Given the description of an element on the screen output the (x, y) to click on. 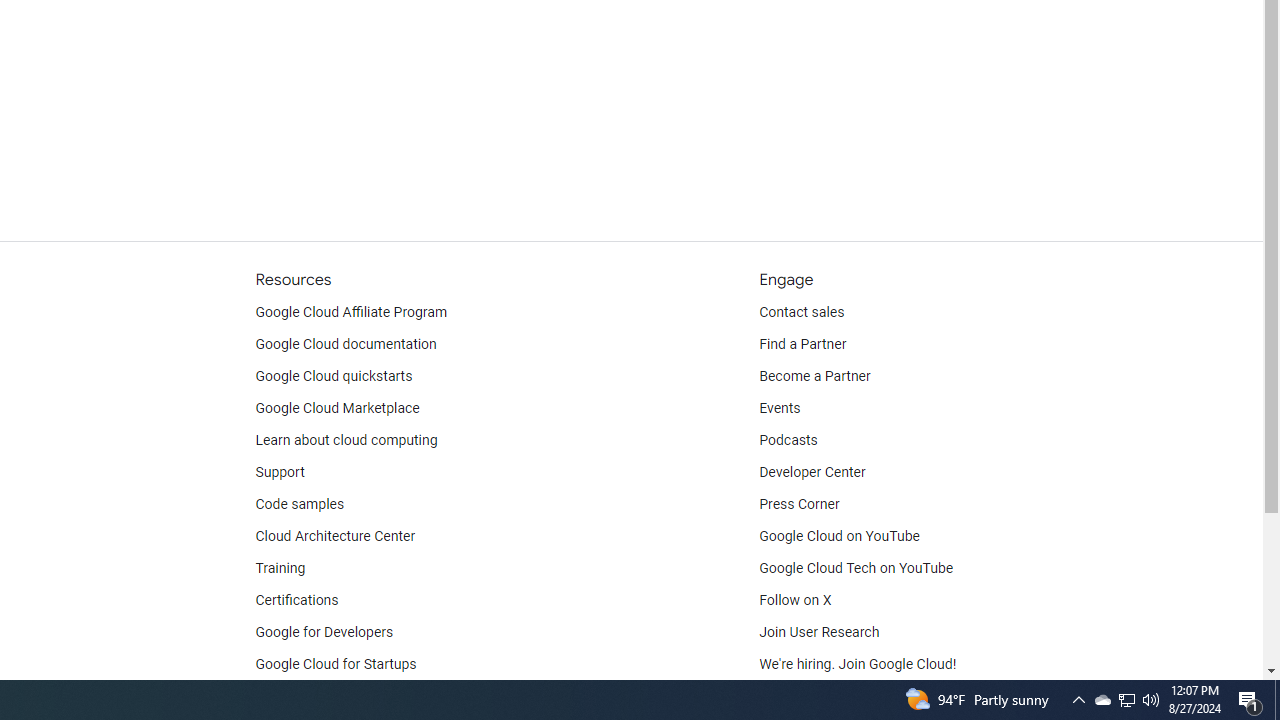
Google Cloud quickstarts (333, 376)
Join User Research (819, 632)
Google Cloud Marketplace (336, 408)
Certifications (296, 600)
Become a Partner (814, 376)
Contact sales (801, 312)
Google Cloud Affiliate Program (351, 312)
Developer Center (812, 472)
Cloud Architecture Center (335, 536)
Google for Developers (324, 632)
